Given the description of an element on the screen output the (x, y) to click on. 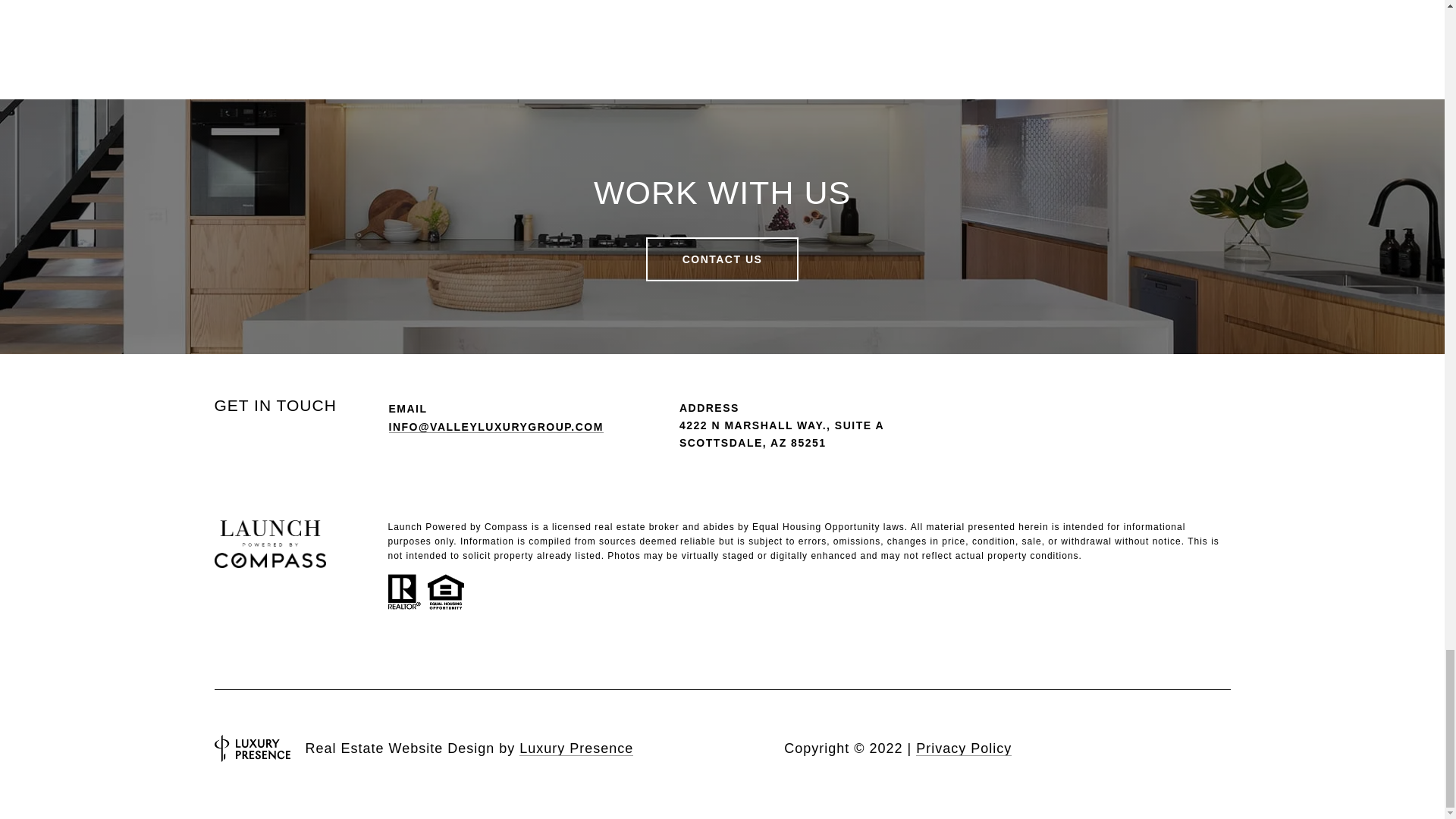
Privacy Policy (963, 748)
CONTACT US (722, 259)
Luxury Presence (576, 748)
